Given the description of an element on the screen output the (x, y) to click on. 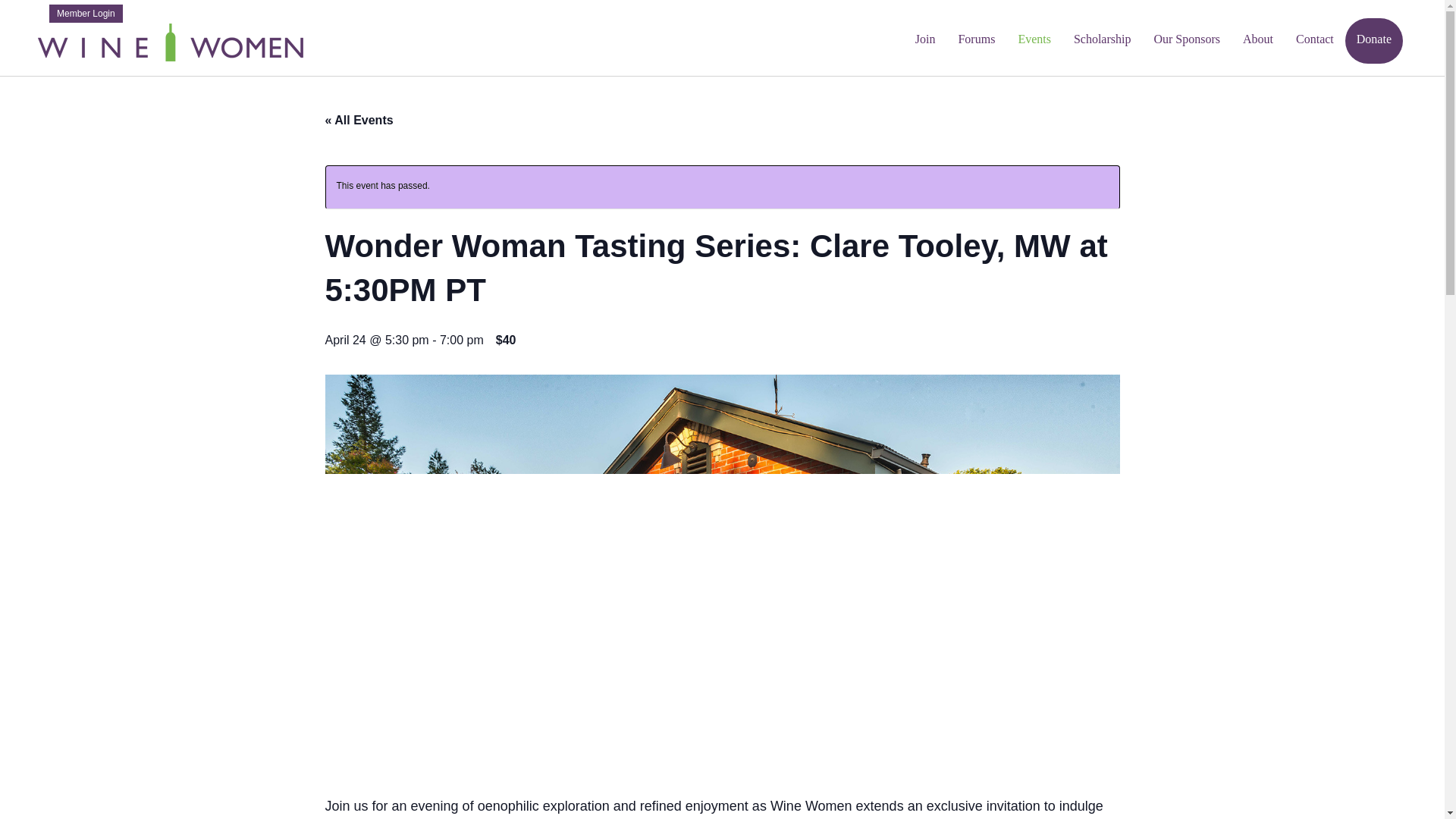
Join (925, 40)
Donate (1374, 40)
Events (1034, 40)
Forums (976, 40)
Member Login (85, 13)
About (1257, 40)
Our Sponsors (1186, 40)
Contact (1314, 40)
Scholarship (1102, 40)
